Given the description of an element on the screen output the (x, y) to click on. 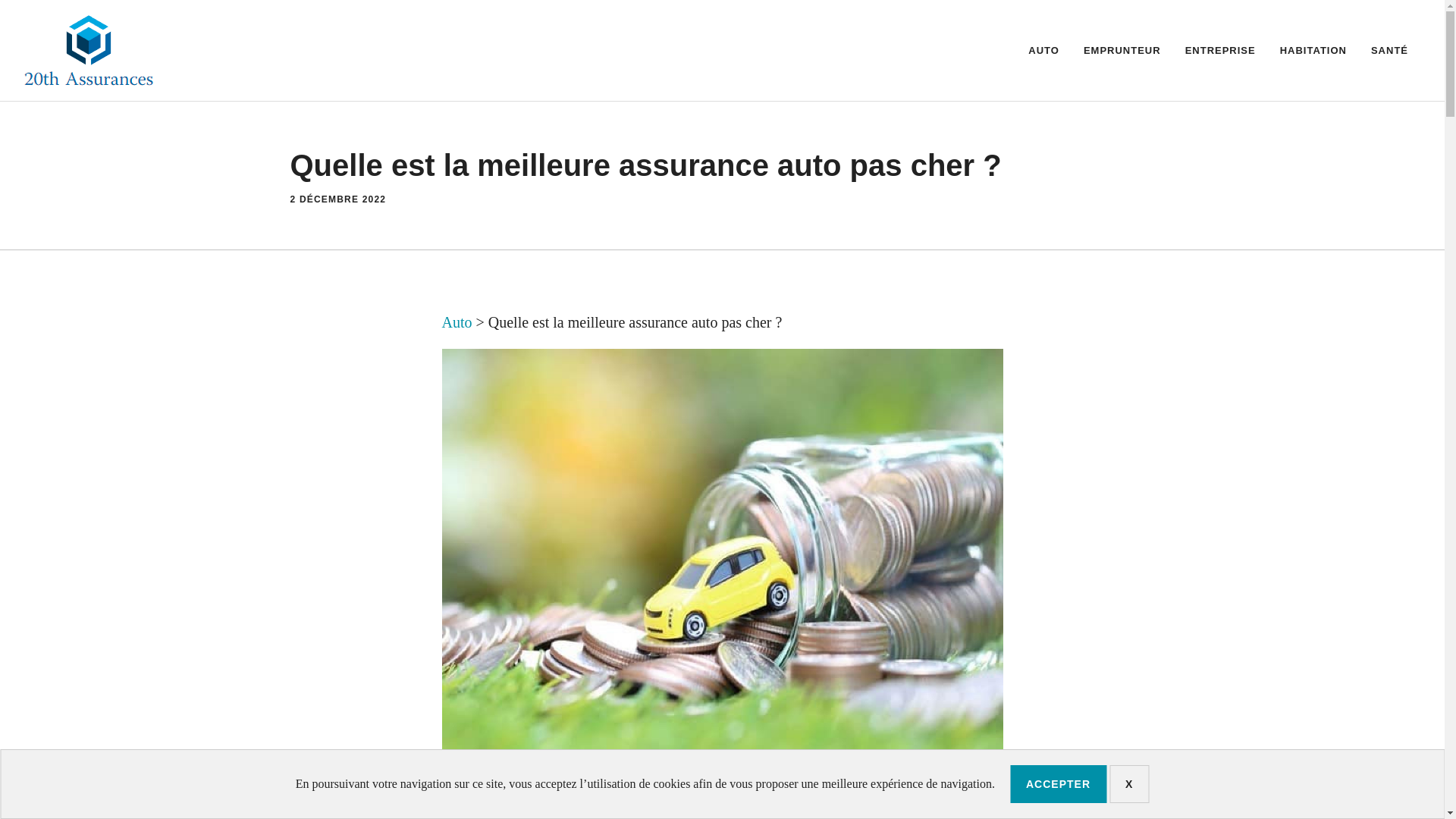
AUTO Element type: text (1043, 49)
X Element type: text (1128, 784)
EMPRUNTEUR Element type: text (1122, 49)
HABITATION Element type: text (1312, 49)
ENTREPRISE Element type: text (1220, 49)
Auto Element type: text (456, 321)
ACCEPTER Element type: text (1058, 784)
